Given the description of an element on the screen output the (x, y) to click on. 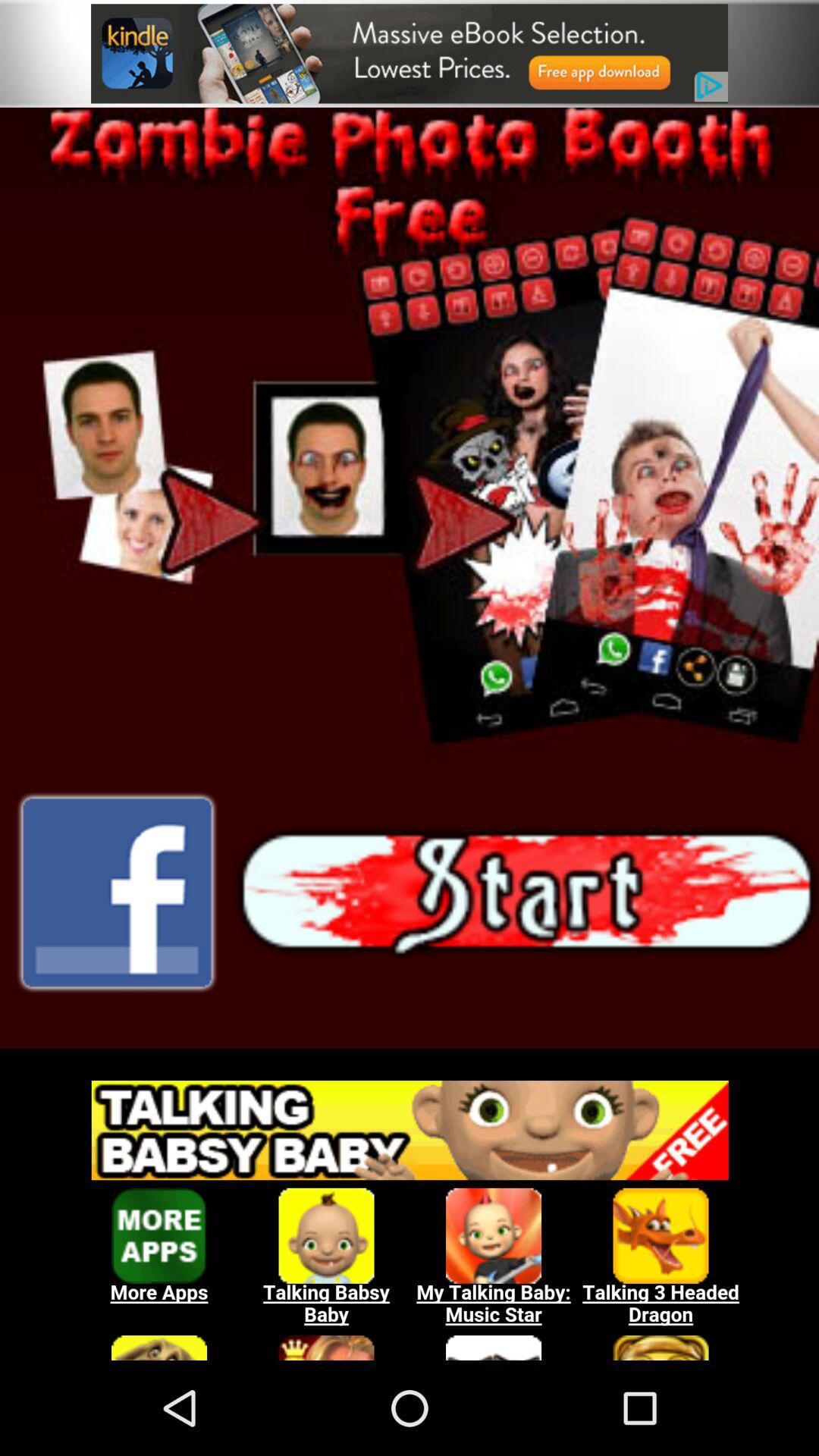
start app (409, 577)
